Given the description of an element on the screen output the (x, y) to click on. 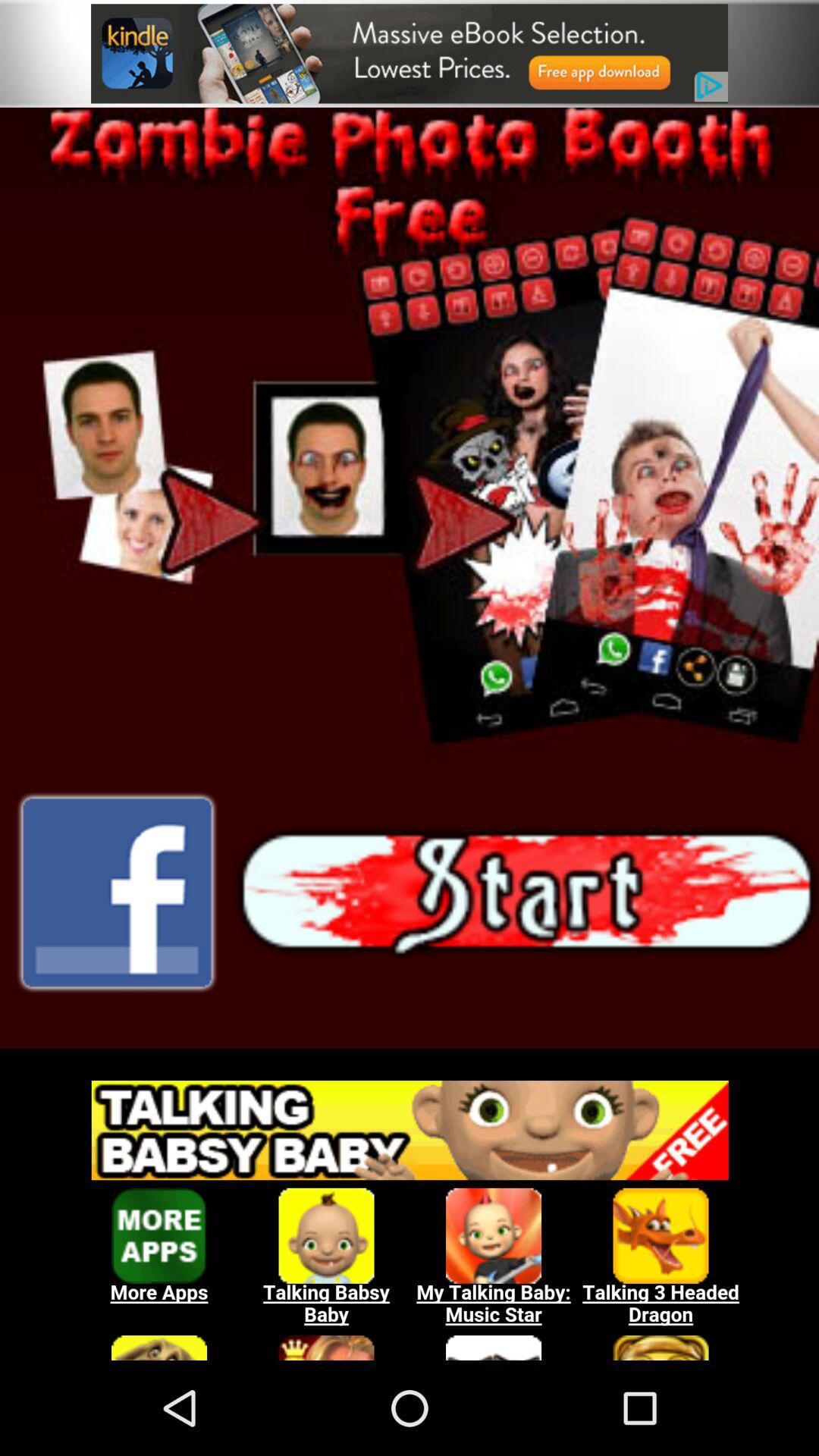
start app (409, 577)
